Given the description of an element on the screen output the (x, y) to click on. 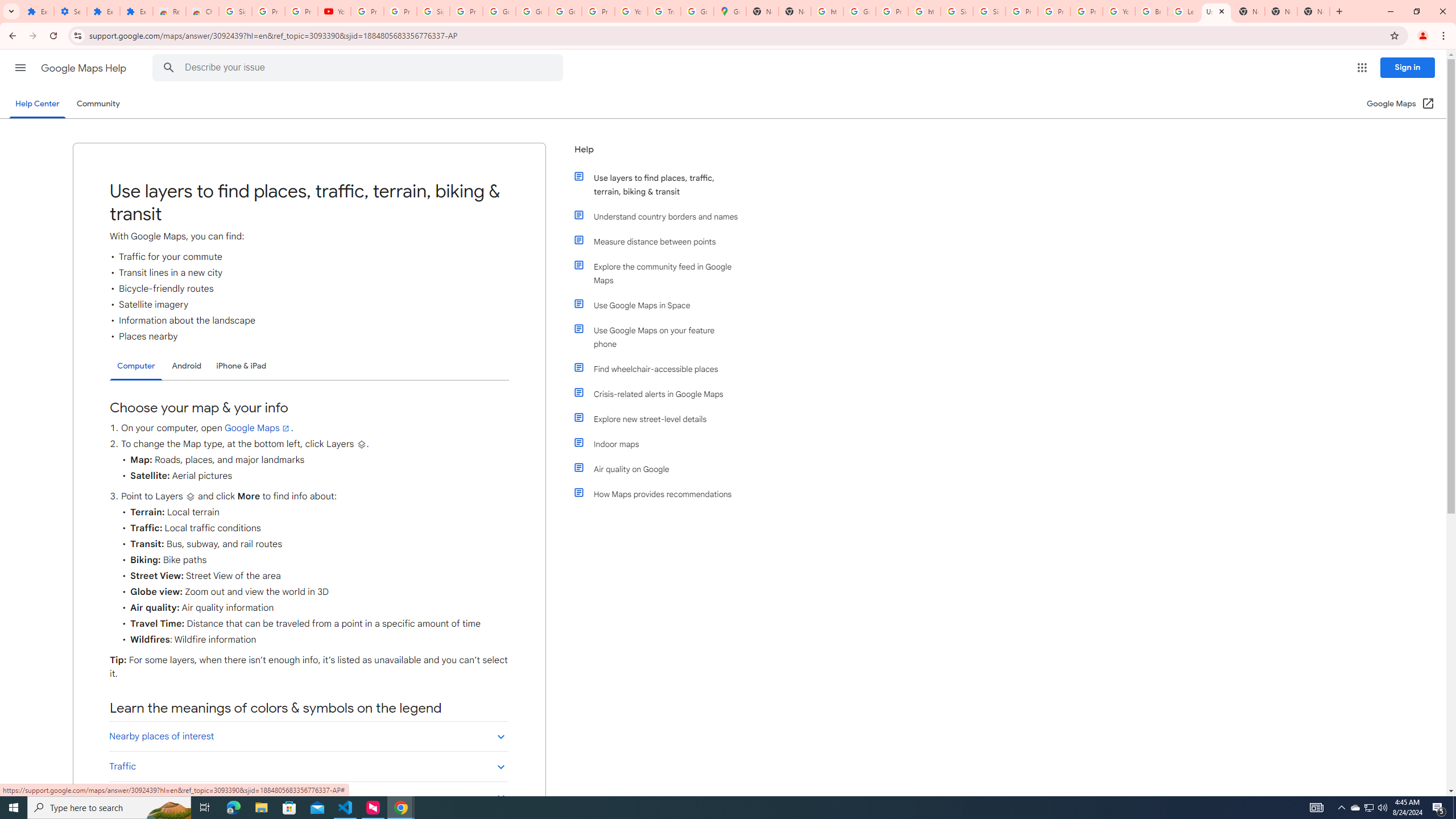
How Maps provides recommendations (661, 493)
Use Google Maps on your feature phone (661, 336)
Measure distance between points (661, 241)
Search Help Center (168, 67)
Use Google Maps in Space (661, 305)
https://scholar.google.com/ (924, 11)
